Given the description of an element on the screen output the (x, y) to click on. 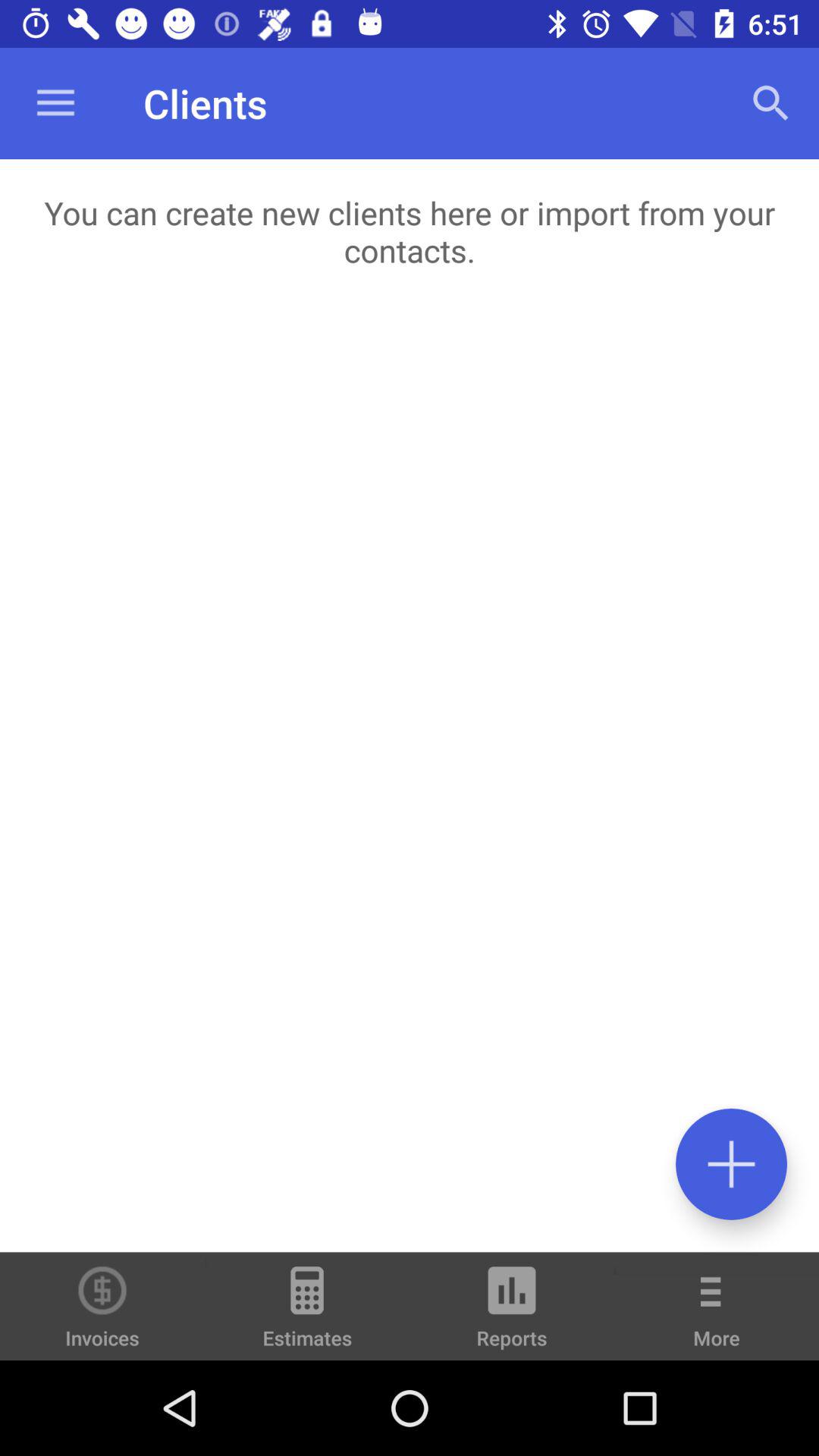
jump to the reports icon (511, 1313)
